Given the description of an element on the screen output the (x, y) to click on. 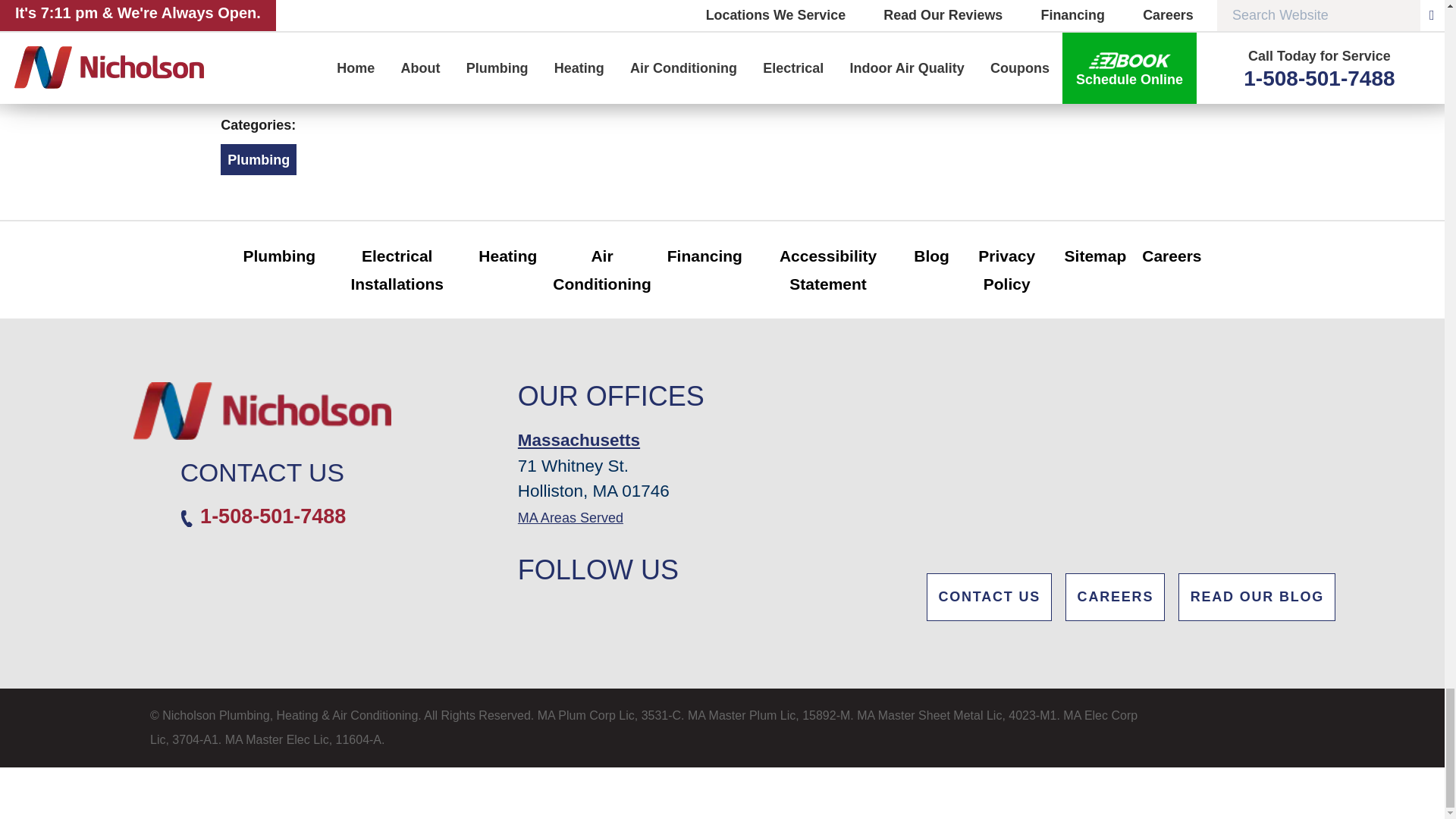
Nicholson (262, 410)
